Given the description of an element on the screen output the (x, y) to click on. 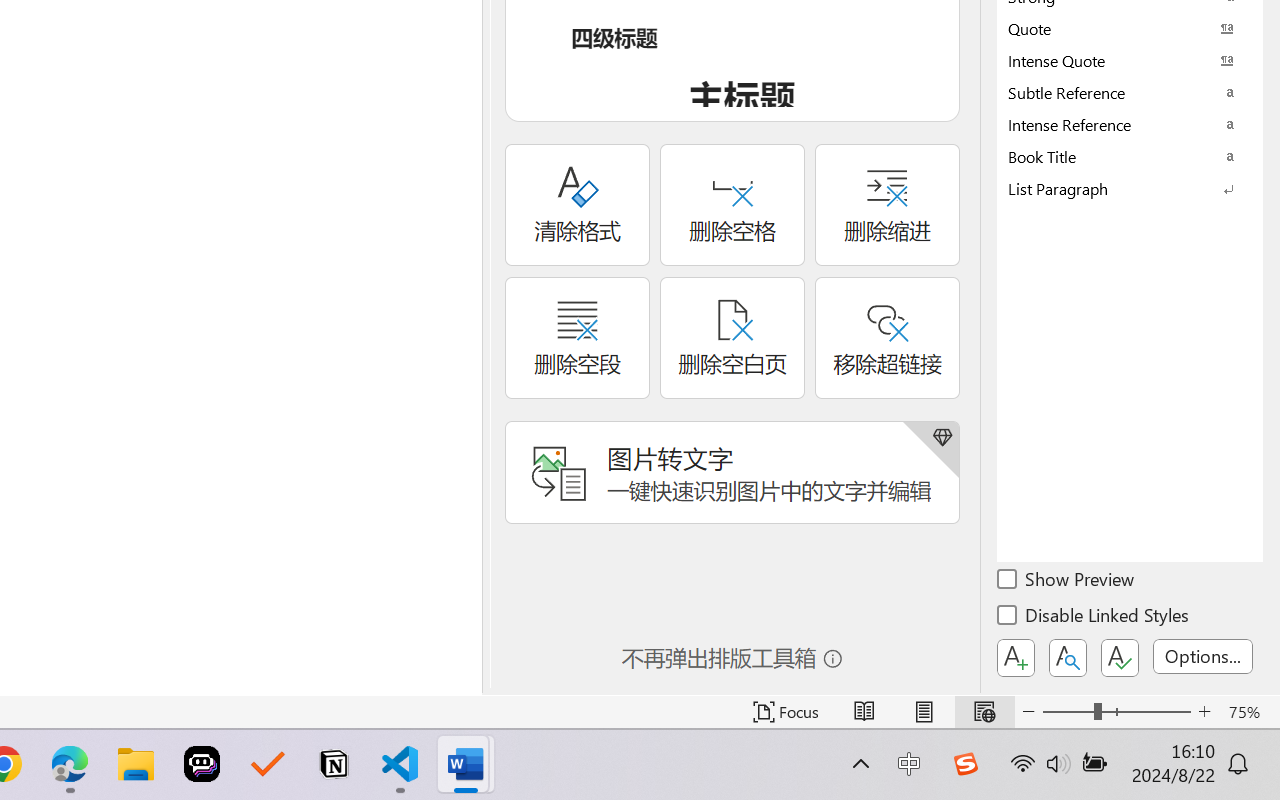
Class: NetUIButton (1119, 657)
Zoom Out (1067, 712)
Intense Quote (1130, 60)
Focus  (786, 712)
Web Layout (984, 712)
Read Mode (864, 712)
Disable Linked Styles (1094, 618)
